Given the description of an element on the screen output the (x, y) to click on. 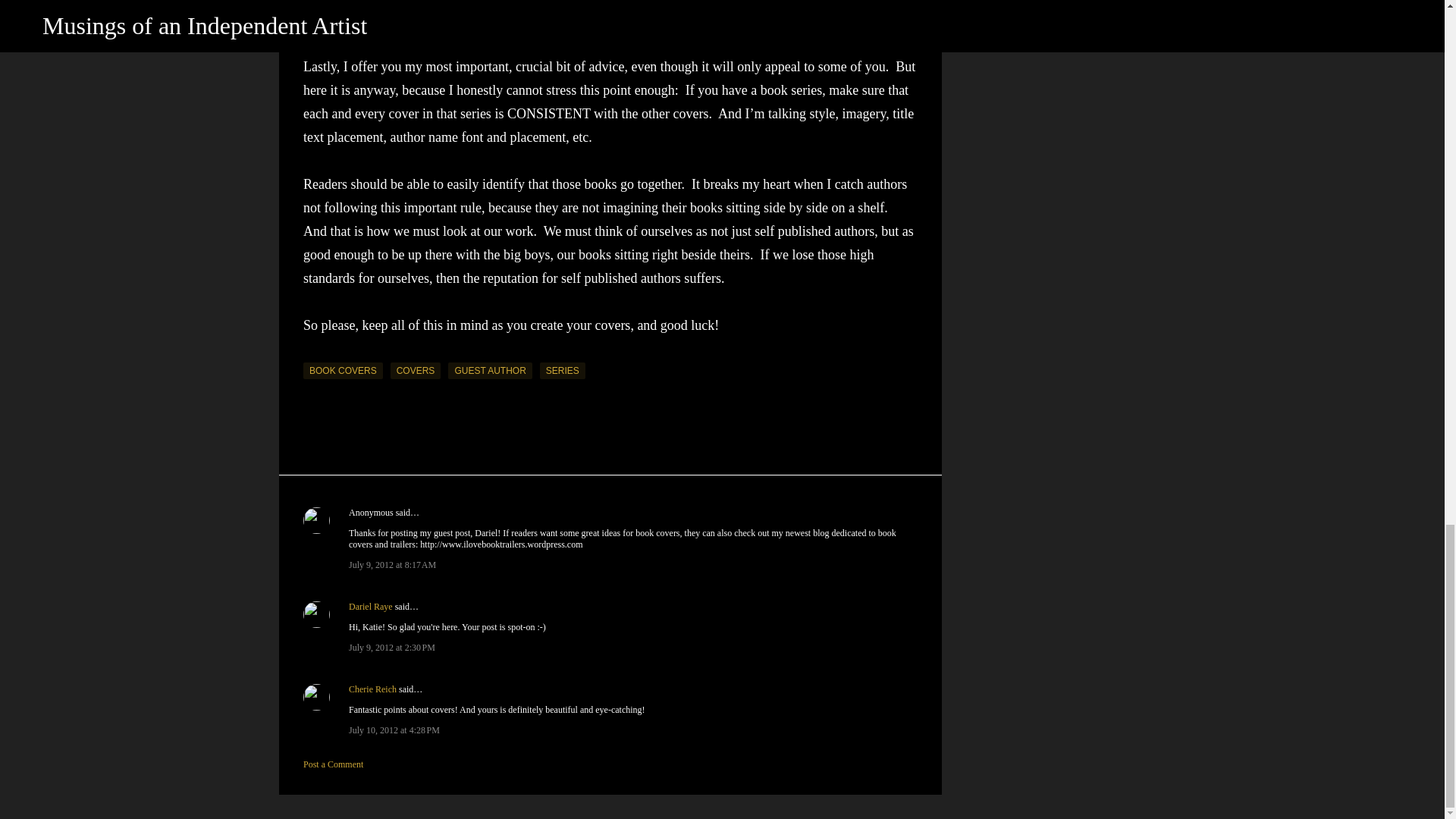
GUEST AUTHOR (489, 370)
SERIES (562, 370)
Dariel Raye (371, 606)
comment permalink (392, 647)
Cherie Reich (372, 688)
COVERS (415, 370)
Post a Comment (332, 764)
comment permalink (392, 564)
BOOK COVERS (342, 370)
